Given the description of an element on the screen output the (x, y) to click on. 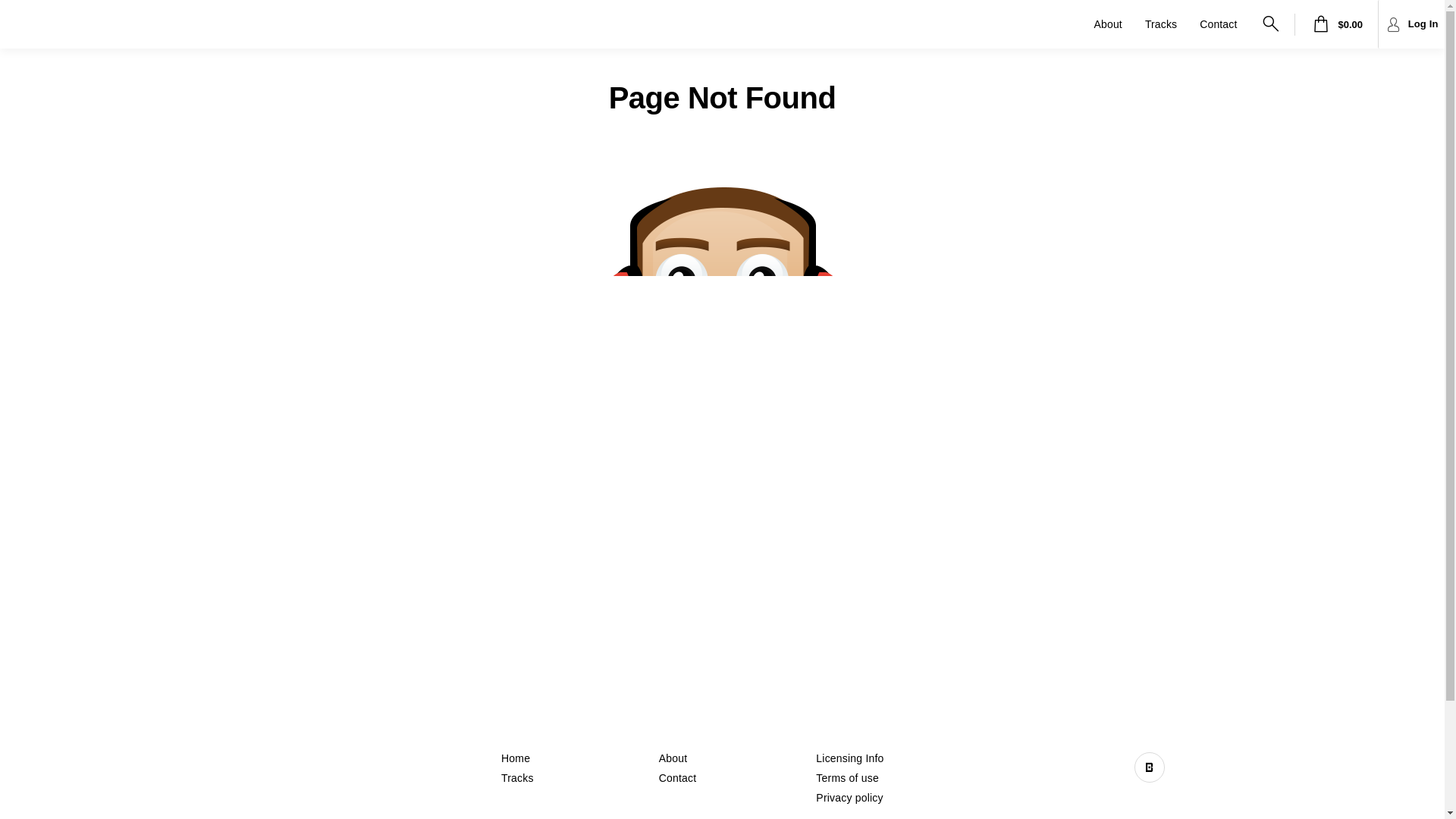
Privacy policy Element type: text (848, 797)
Contact Element type: text (677, 777)
Tracks Element type: text (1174, 24)
About Element type: text (672, 758)
Contact Element type: text (1231, 24)
Tracks Element type: text (517, 777)
Home Element type: text (515, 758)
Terms of use Element type: text (846, 777)
About Element type: text (1120, 24)
Licensing Info Element type: text (849, 758)
Log In Element type: text (1410, 24)
